Given the description of an element on the screen output the (x, y) to click on. 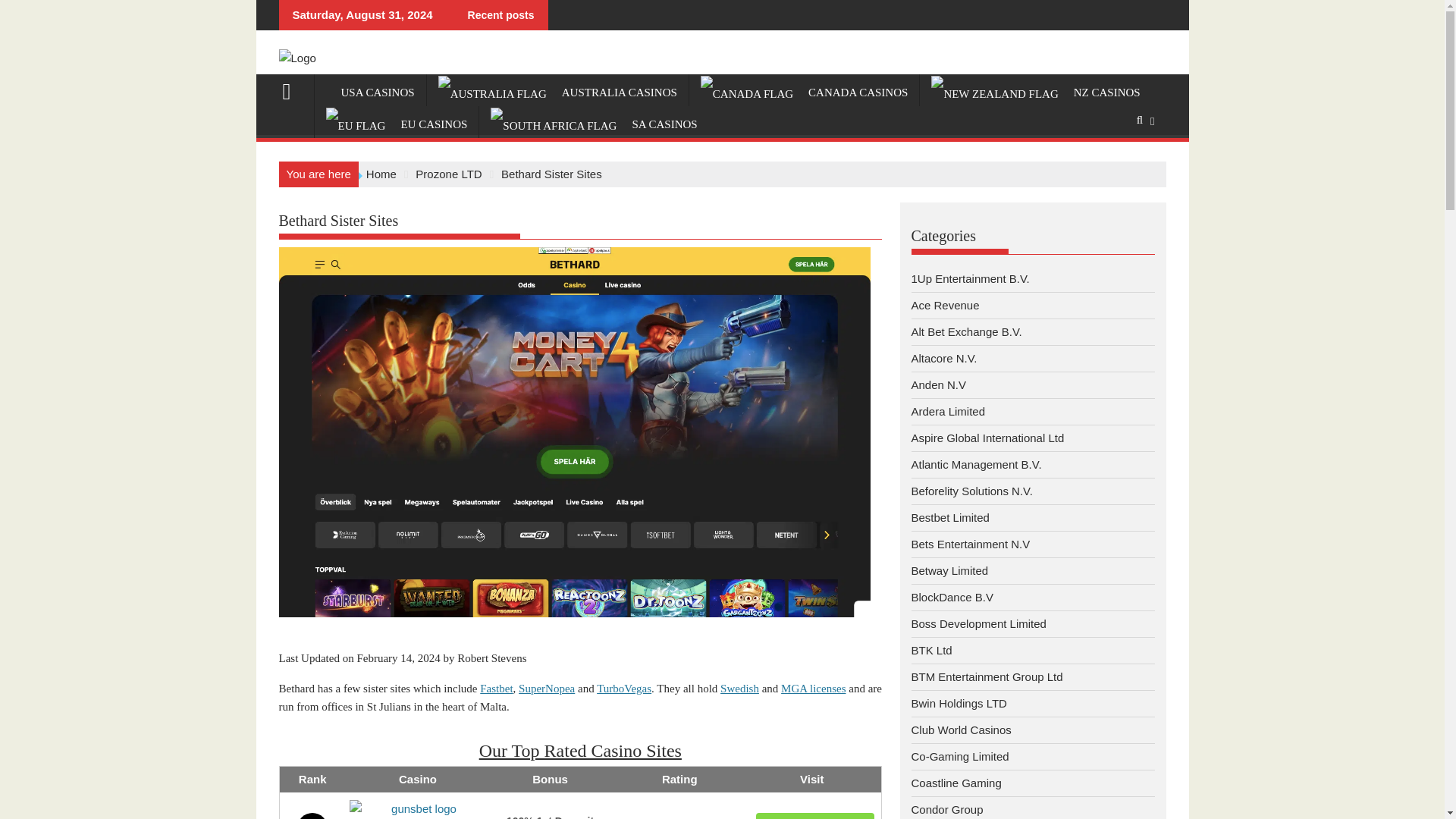
NZ CASINOS (1035, 93)
Home (381, 174)
TurboVegas (623, 688)
GunsBet Casino (417, 809)
PLAY NOW (815, 816)
Fastbet (496, 688)
Swedish (739, 688)
AUSTRALIA CASINOS (557, 93)
Prozone LTD (447, 174)
EU CASINOS (396, 125)
